Given the description of an element on the screen output the (x, y) to click on. 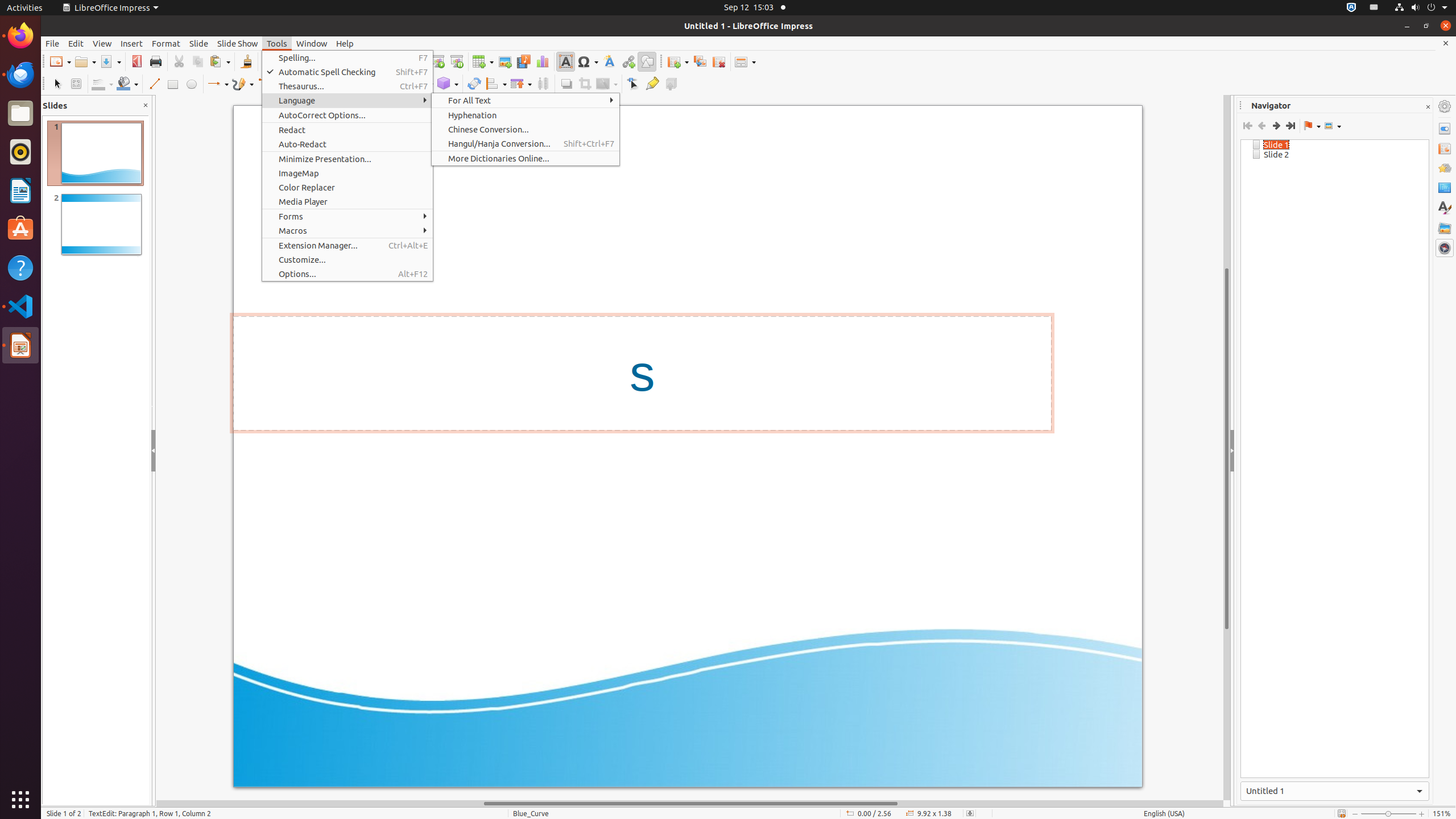
Slide Element type: menu (198, 43)
Minimize Presentation... Element type: menu-item (347, 158)
LibreOffice Impress Element type: menu (109, 7)
Master Slides Element type: radio-button (1444, 188)
